Given the description of an element on the screen output the (x, y) to click on. 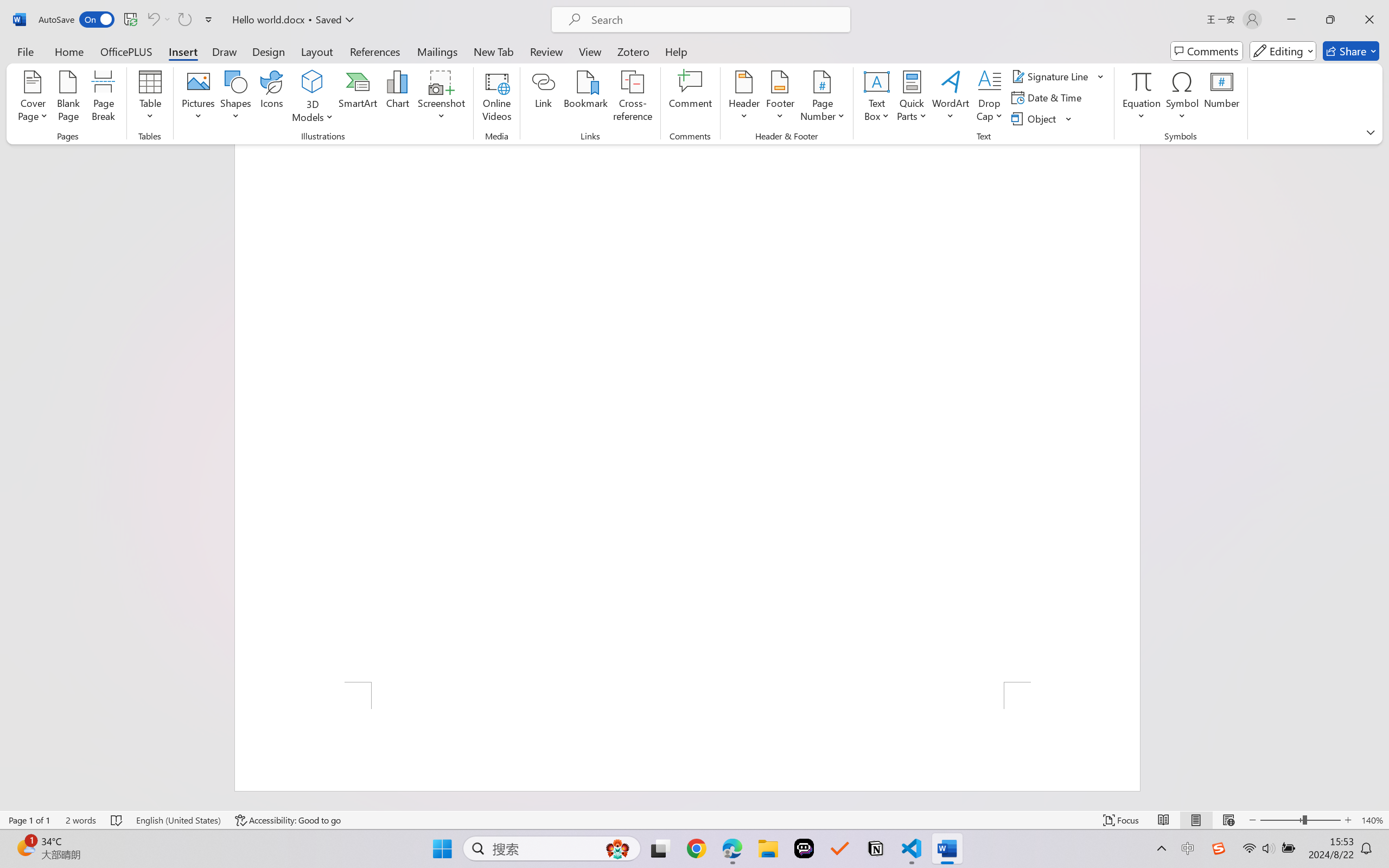
OfficePLUS (126, 51)
Mailings (437, 51)
View (589, 51)
Language English (United States) (178, 819)
Zotero (632, 51)
